Given the description of an element on the screen output the (x, y) to click on. 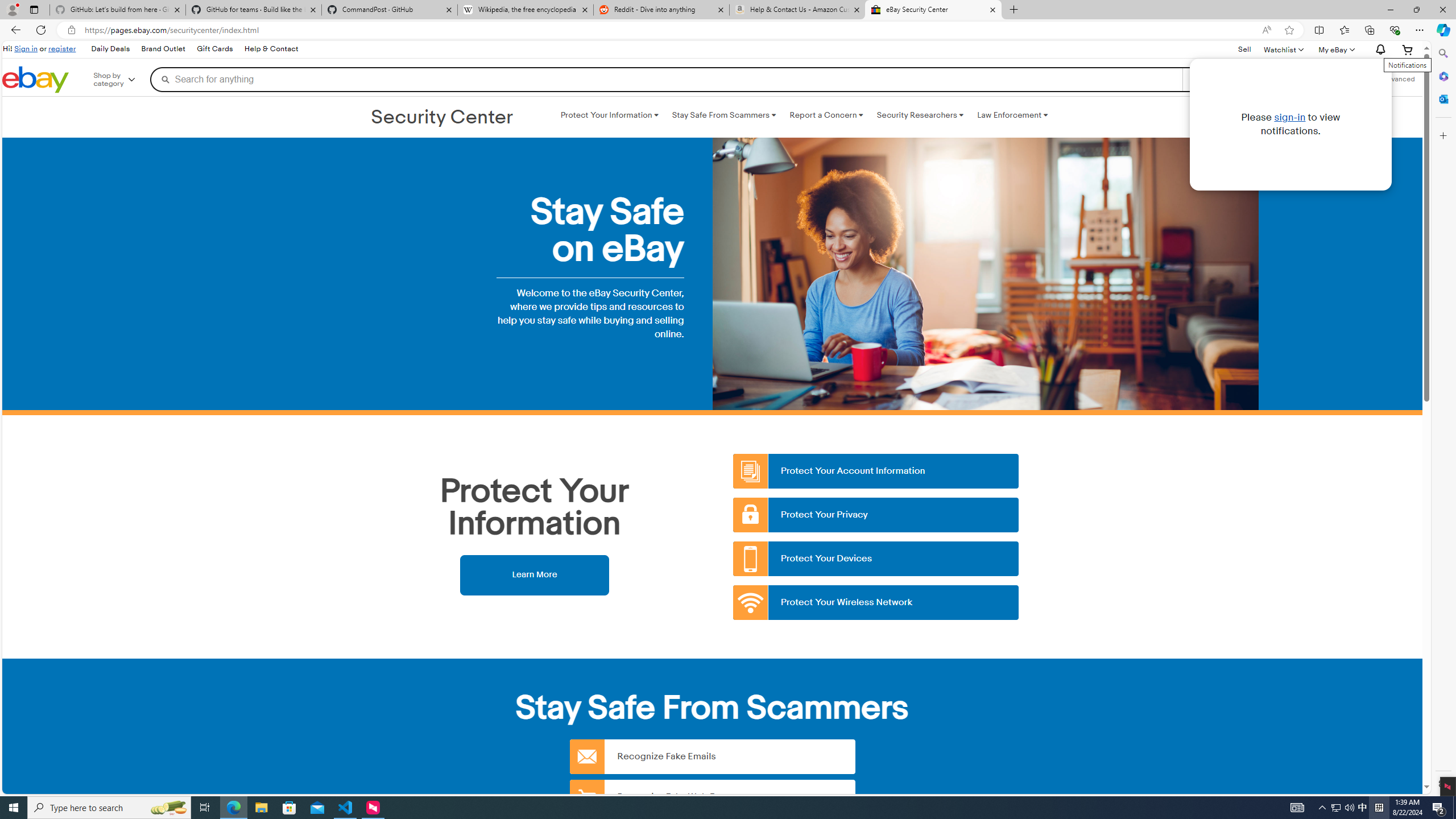
Protect Your Wireless Network (876, 602)
Law Enforcement  (1012, 115)
Report a Concern  (826, 115)
Learn More (534, 574)
Sign in (25, 48)
Protect Your Devices (876, 558)
eBay Home (35, 79)
Daily Deals (109, 49)
Search for anything (665, 78)
Brand Outlet (163, 49)
Recognize Fake Web Pages (712, 796)
register (61, 48)
